Given the description of an element on the screen output the (x, y) to click on. 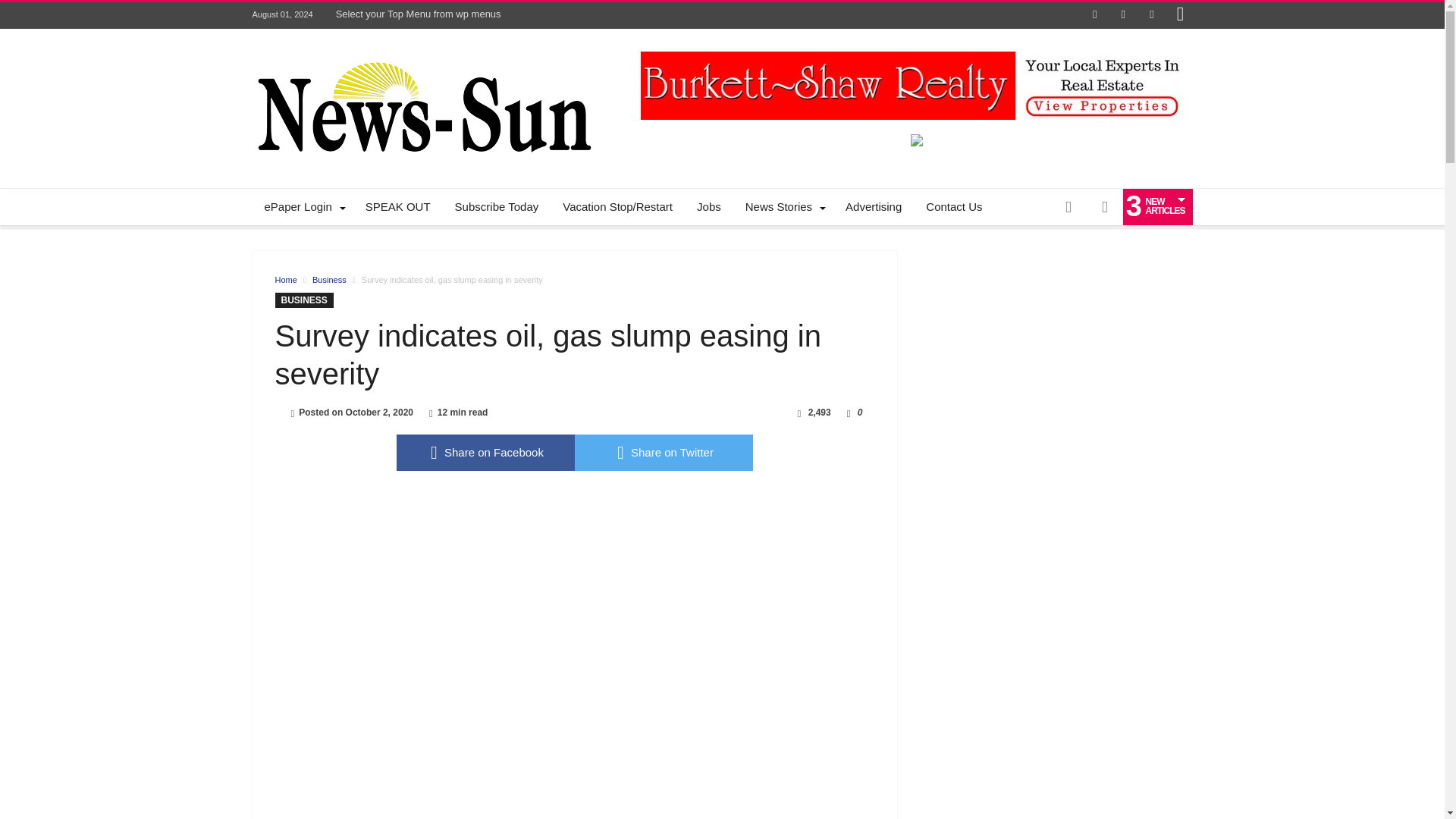
Twitter (1122, 15)
I like this article (849, 412)
Contact Us (954, 207)
SPEAK OUT (397, 207)
Share on Facebook (484, 452)
Jobs (708, 207)
Random Article (1067, 207)
Subscribe Today (496, 207)
Facebook (1094, 15)
ePaper Login (301, 207)
twitter (663, 452)
Home (286, 279)
facebook (484, 452)
Advertising (873, 207)
Business (329, 279)
